Given the description of an element on the screen output the (x, y) to click on. 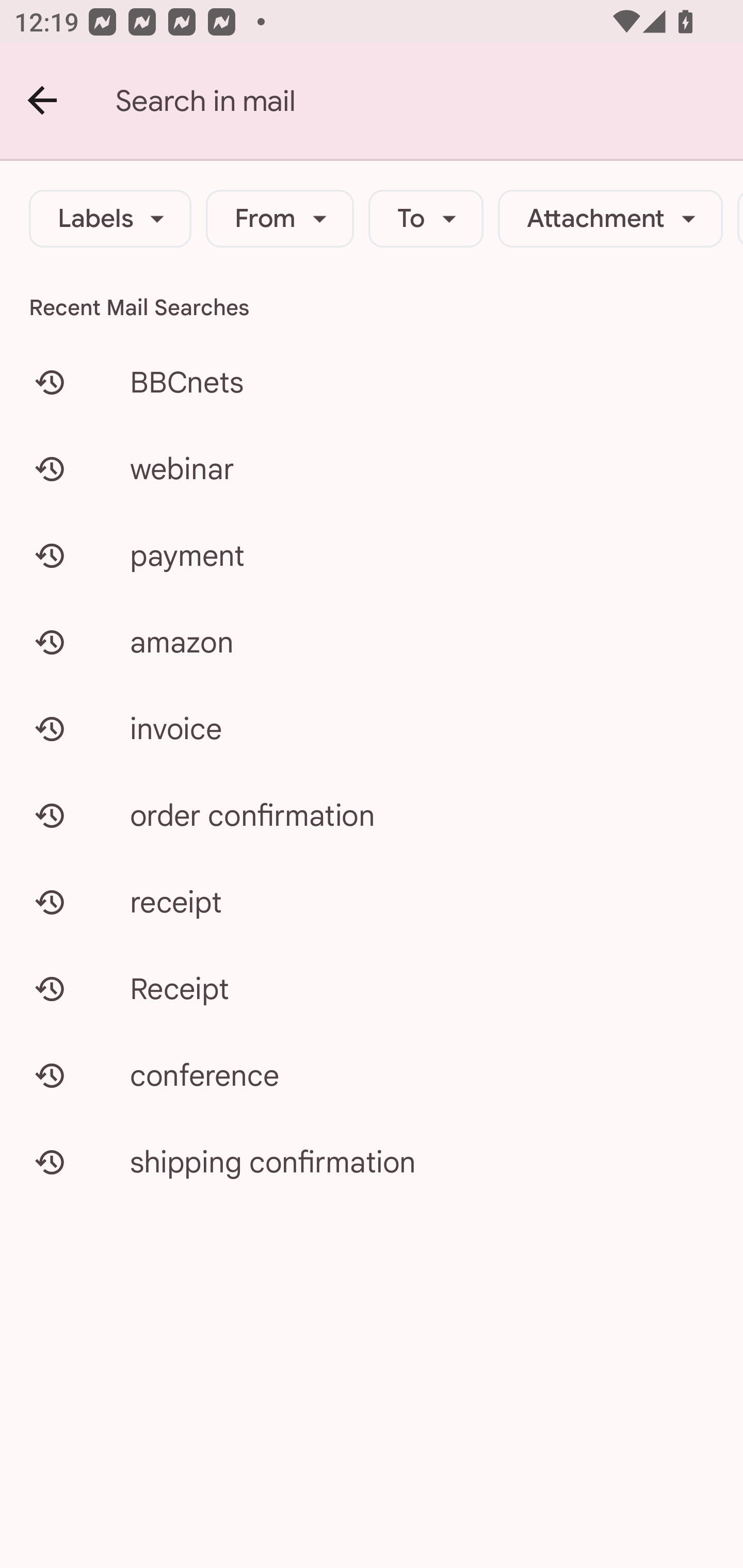
Back (43, 101)
Search in mail (429, 101)
Labels (109, 218)
From (279, 218)
To (425, 218)
Attachment (609, 218)
Recent Mail Searches (371, 306)
BBCnets Suggestion: BBCnets (371, 381)
webinar Suggestion: webinar (371, 468)
payment Suggestion: payment (371, 555)
amazon Suggestion: amazon (371, 641)
invoice Suggestion: invoice (371, 728)
order confirmation Suggestion: order confirmation (371, 815)
receipt Suggestion: receipt (371, 902)
Receipt Suggestion: Receipt (371, 988)
conference Suggestion: conference (371, 1074)
